Given the description of an element on the screen output the (x, y) to click on. 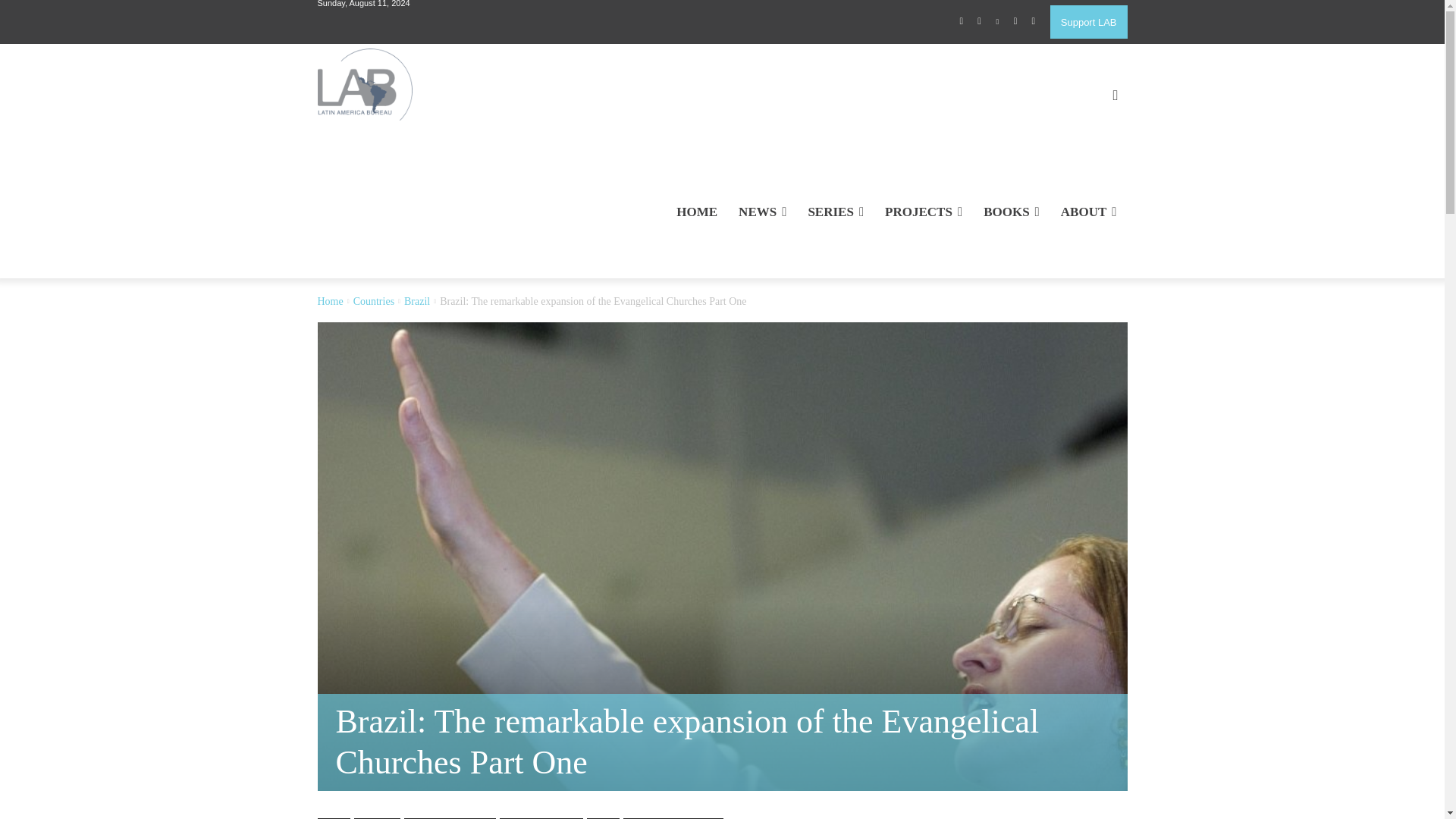
Linkedin (997, 22)
Support LAB (1087, 21)
Instagram (979, 22)
Facebook (961, 22)
Youtube (1033, 22)
Twitter (1015, 22)
